Given the description of an element on the screen output the (x, y) to click on. 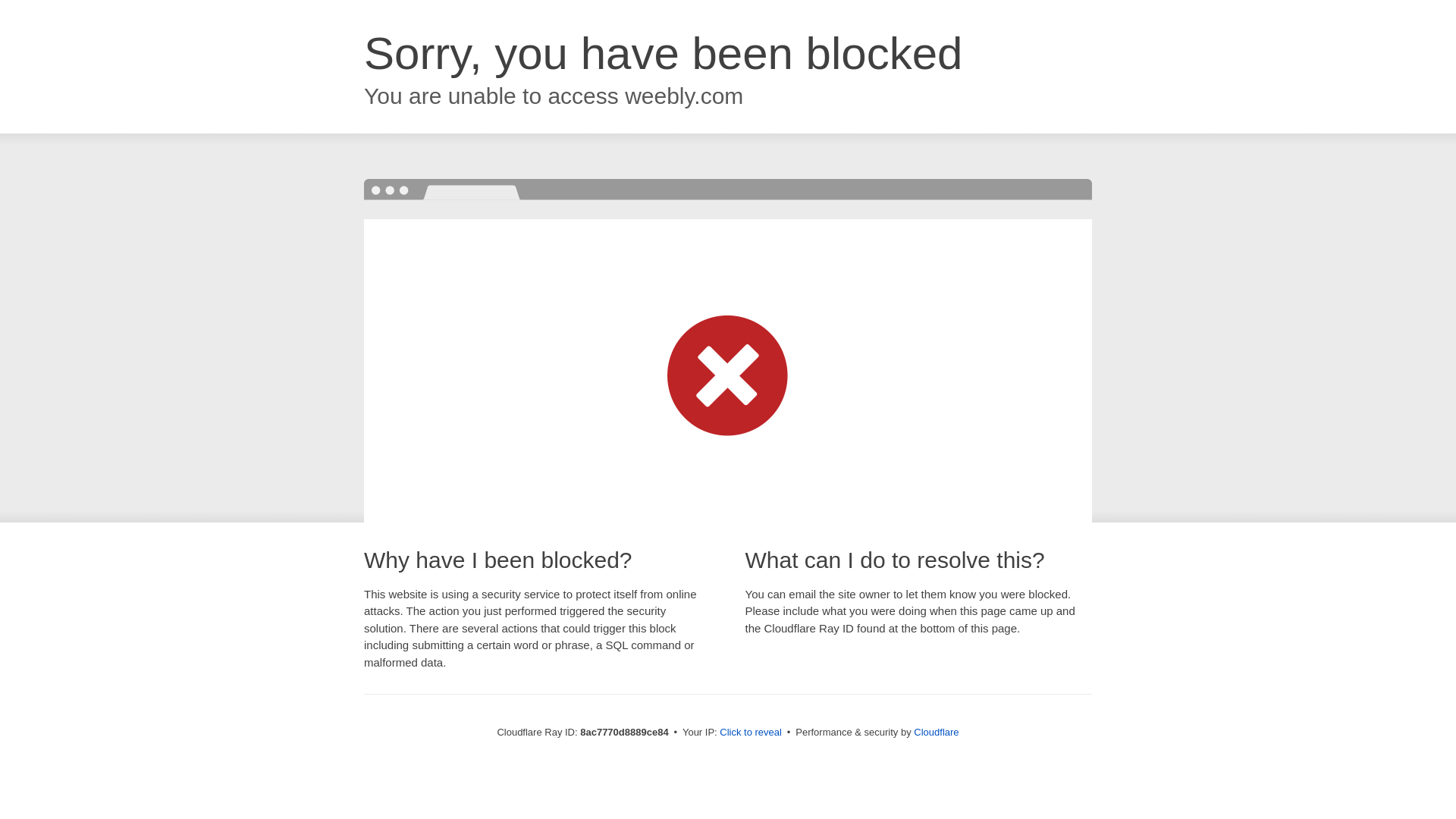
Cloudflare (936, 731)
Click to reveal (750, 732)
